Given the description of an element on the screen output the (x, y) to click on. 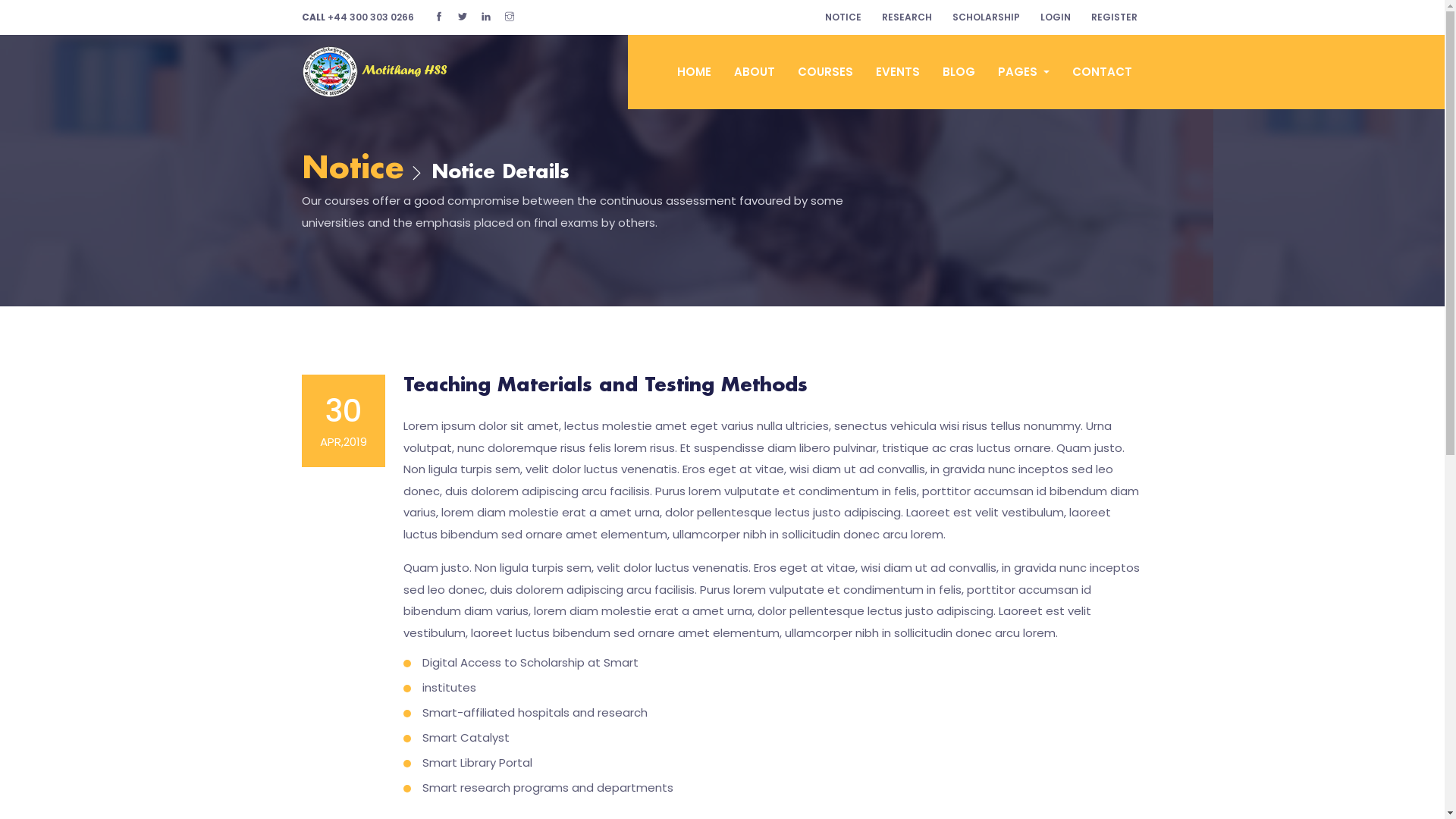
NOTICE Element type: text (843, 17)
Notice Element type: text (352, 169)
REGISTER Element type: text (1113, 17)
CALL +44 300 303 0266 Element type: text (357, 16)
ABOUT Element type: text (754, 71)
EVENTS Element type: text (897, 71)
BLOG Element type: text (958, 71)
LOGIN Element type: text (1055, 17)
RESEARCH Element type: text (906, 17)
HOME Element type: text (694, 71)
SCHOLARSHIP Element type: text (986, 17)
COURSES Element type: text (825, 71)
CONTACT Element type: text (1102, 71)
PAGES Element type: text (1023, 71)
